Given the description of an element on the screen output the (x, y) to click on. 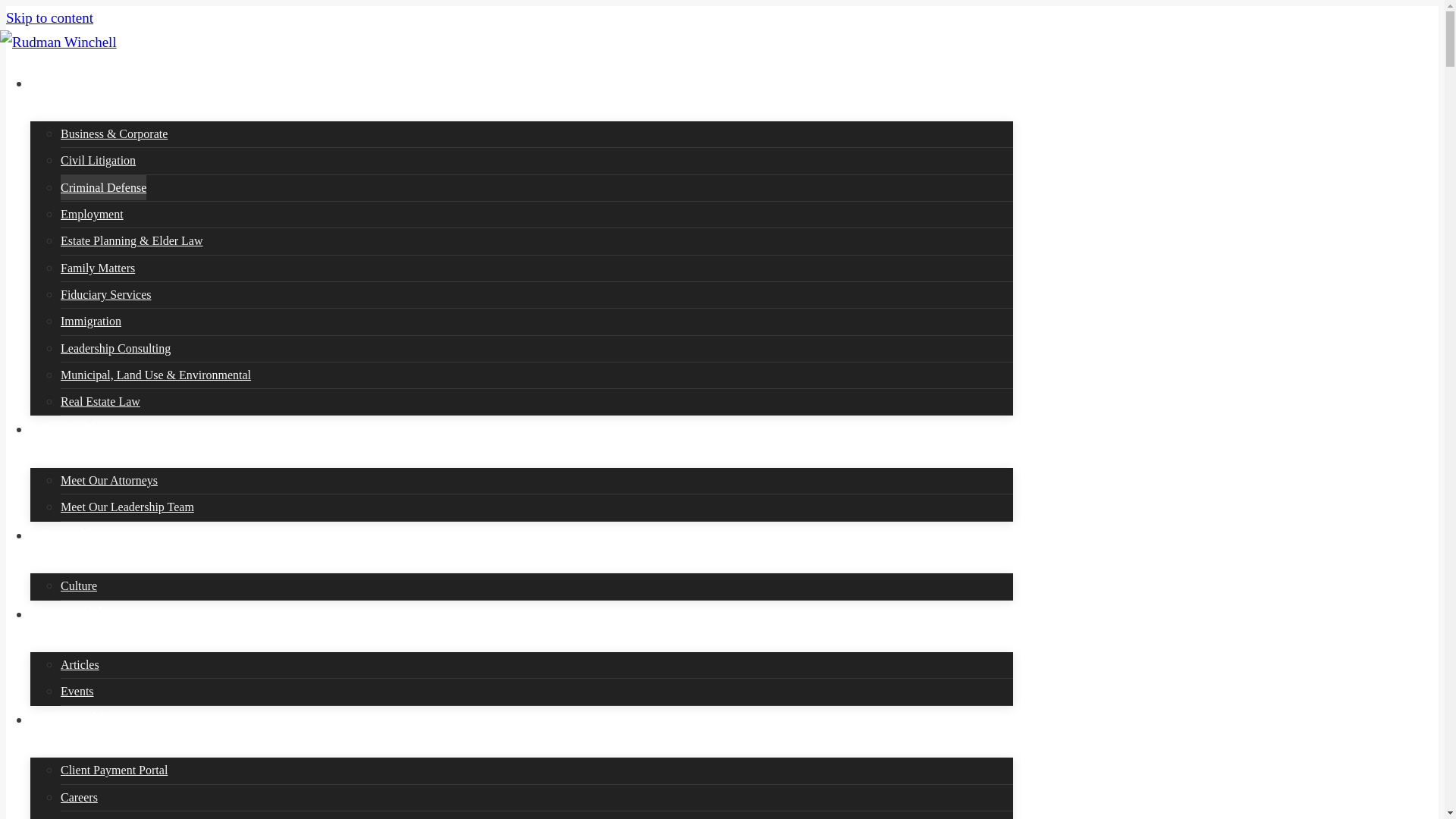
Expand (97, 714)
Meet Our Attorneys (537, 480)
Articles (537, 664)
Expand (94, 609)
PeopleExpand (521, 441)
AboutExpand (521, 547)
Events (537, 691)
Careers (537, 797)
Employment (537, 214)
PracticesExpand (521, 95)
Civil Litigation (537, 160)
Family Matters (537, 268)
Leadership Consulting (537, 348)
Expand (89, 424)
